Given the description of an element on the screen output the (x, y) to click on. 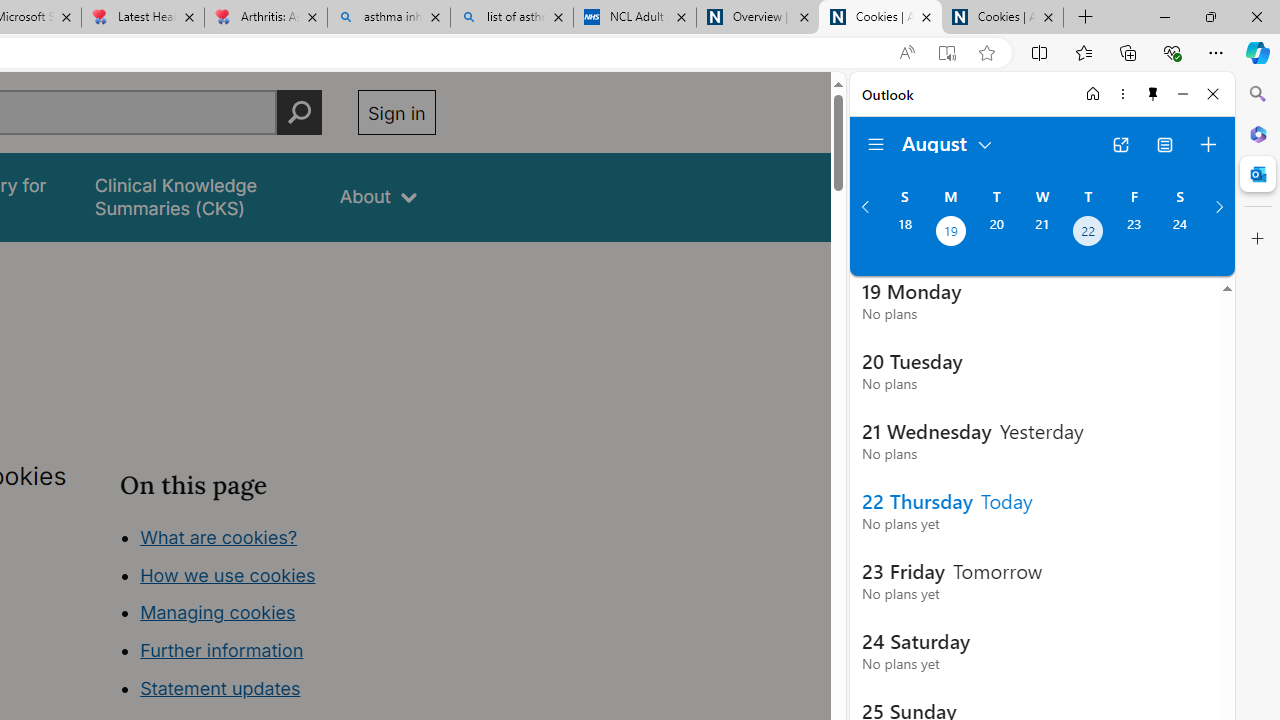
Monday, August 19, 2024. Date selected.  (950, 233)
Friday, August 23, 2024.  (1134, 233)
View Switcher. Current view is Agenda view (1165, 144)
Wednesday, August 21, 2024.  (1042, 233)
Thursday, August 22, 2024. Today.  (1088, 233)
August (948, 141)
